Given the description of an element on the screen output the (x, y) to click on. 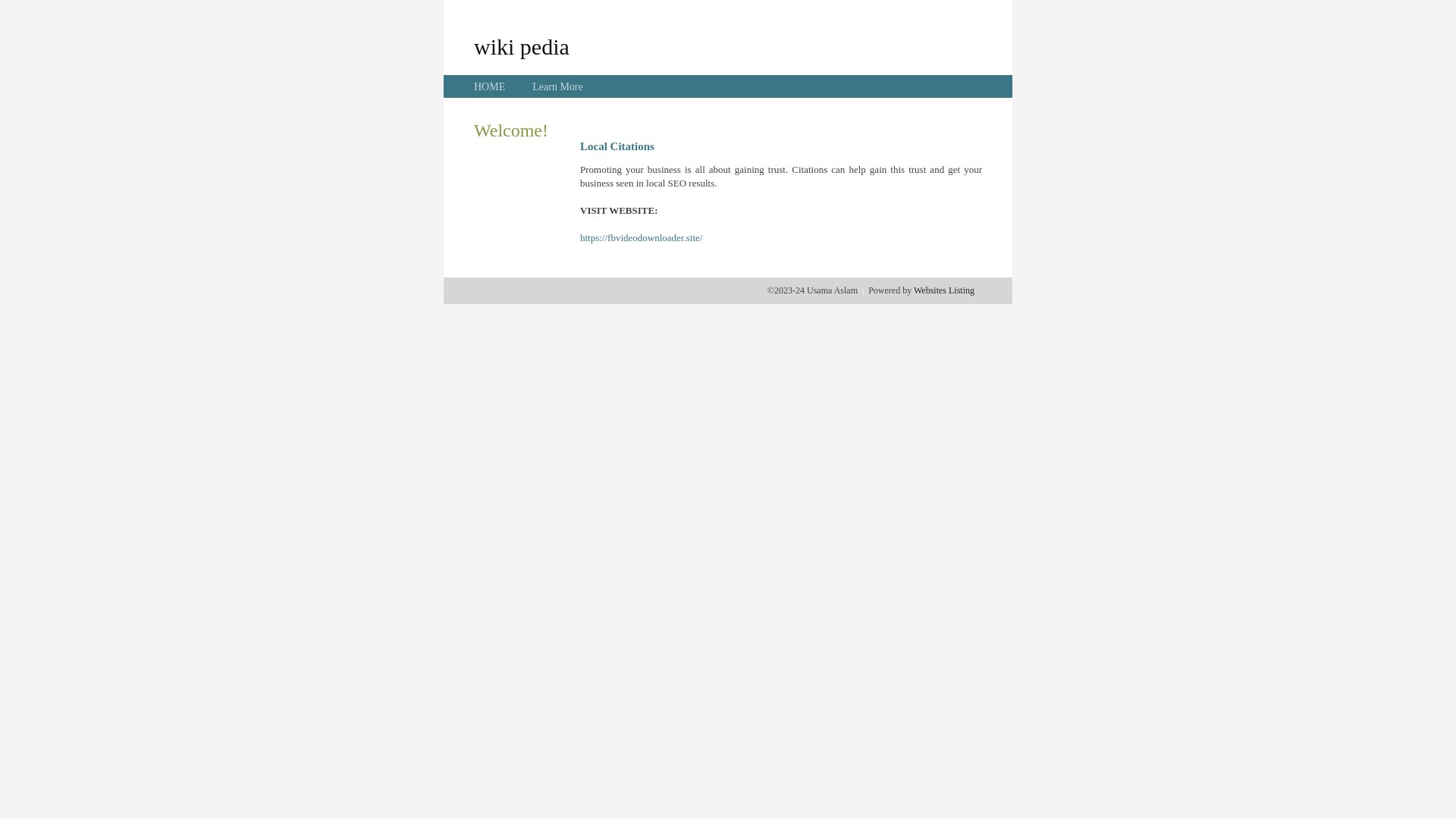
https://fbvideodownloader.site/ Element type: text (641, 237)
HOME Element type: text (489, 86)
Websites Listing Element type: text (943, 290)
wiki pedia Element type: text (521, 46)
Learn More Element type: text (557, 86)
